Given the description of an element on the screen output the (x, y) to click on. 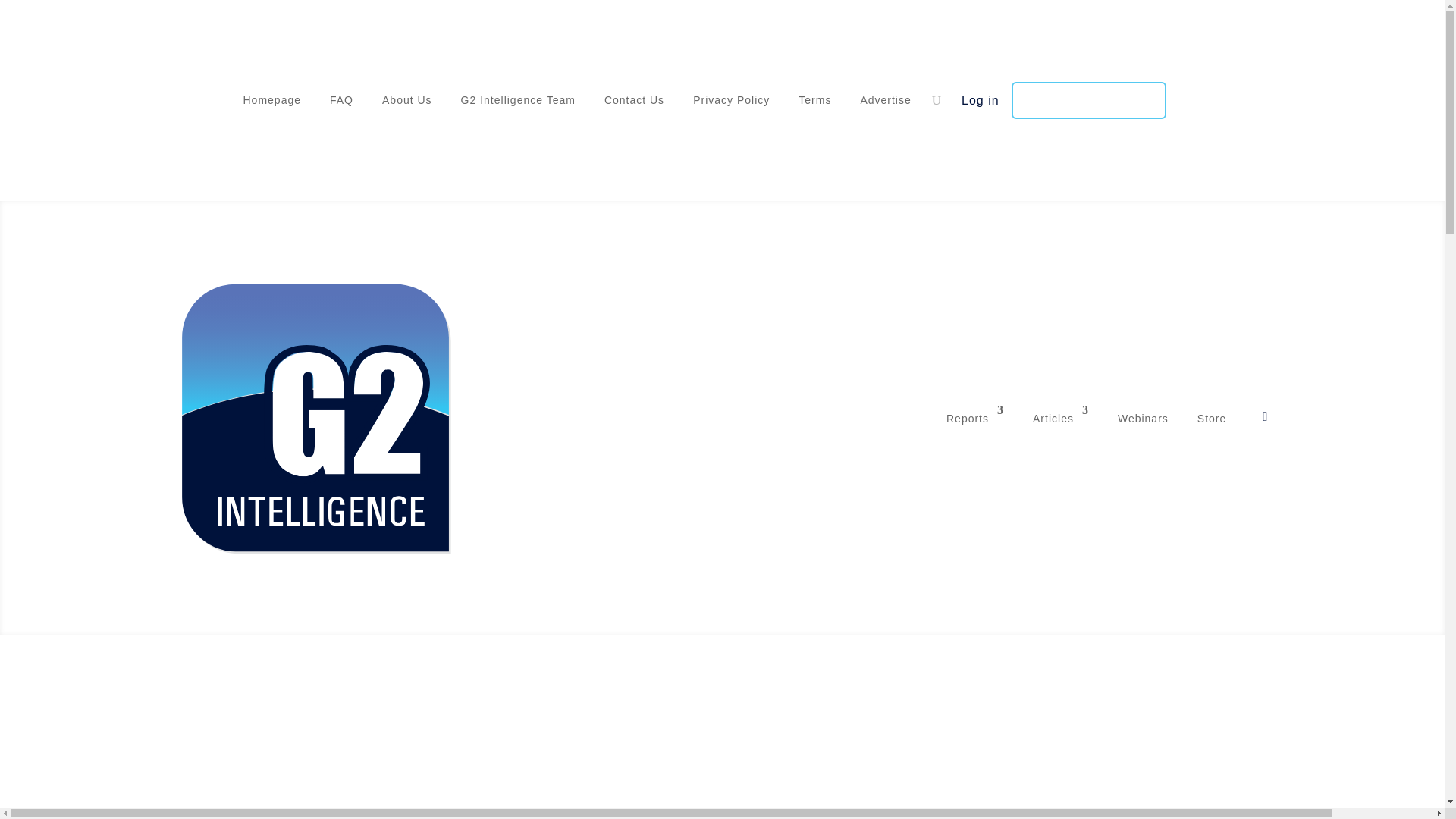
Follow on LinkedIn (218, 97)
G2 Intelligence Team (518, 104)
Log in (979, 100)
Terms (814, 104)
Advertise (885, 104)
Contact Us (633, 104)
Follow on X (188, 97)
Homepage (272, 104)
Privacy Policy (731, 104)
FAQ (341, 104)
About Us (406, 104)
Start free trial (1088, 99)
